Given the description of an element on the screen output the (x, y) to click on. 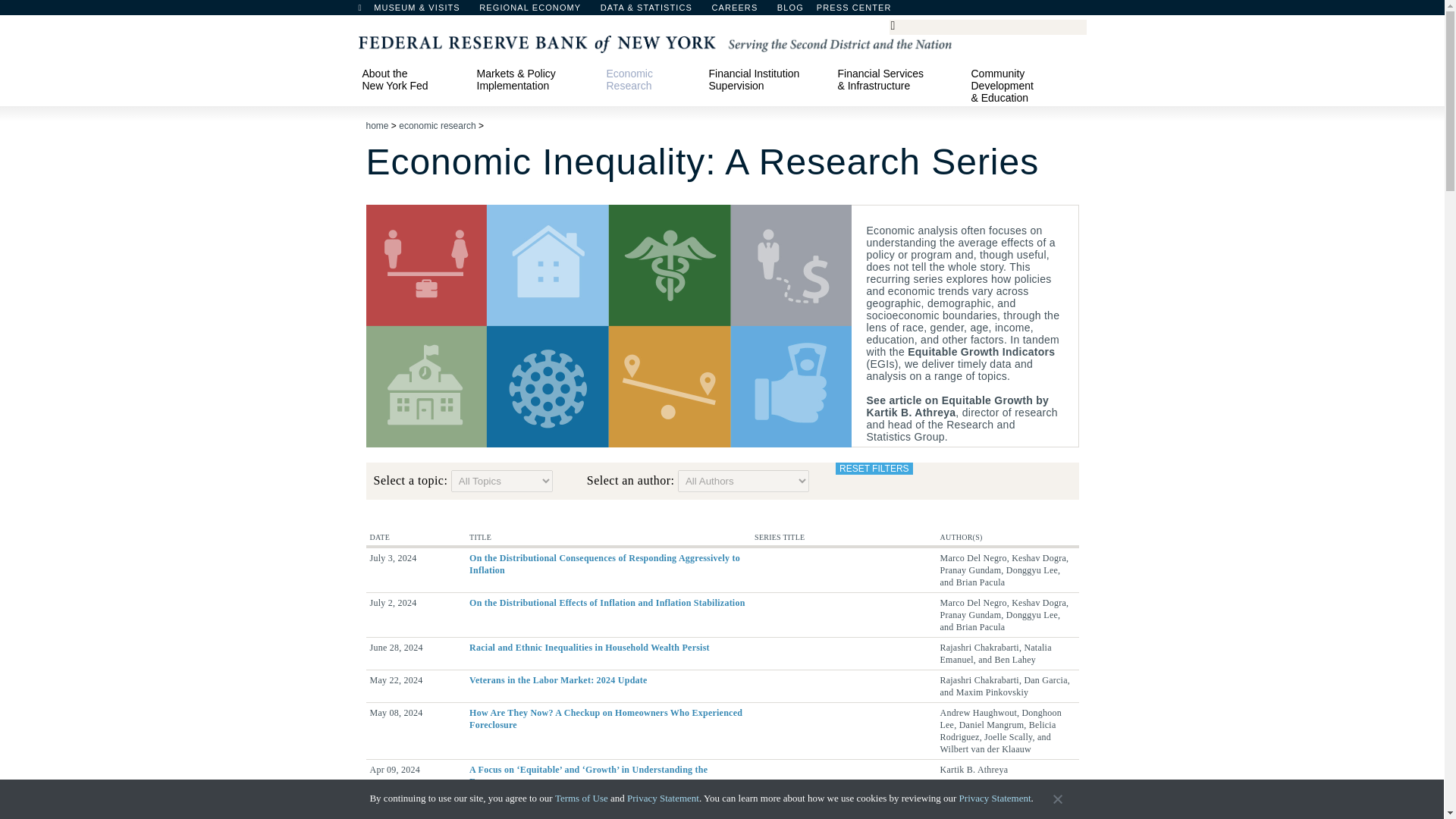
Regional Economy (537, 11)
Federal Reserve Bank of New York (654, 42)
PRESS CENTER (861, 11)
Search Form (987, 27)
BLOG (830, 11)
Liberty Street Economics Blog (830, 11)
Home (367, 11)
Press Center (861, 11)
CAREERS (742, 11)
REGIONAL ECONOMY (537, 11)
Search Box (985, 26)
Careers (742, 11)
About the New York Fed (411, 79)
About the New York Fed (411, 79)
